Given the description of an element on the screen output the (x, y) to click on. 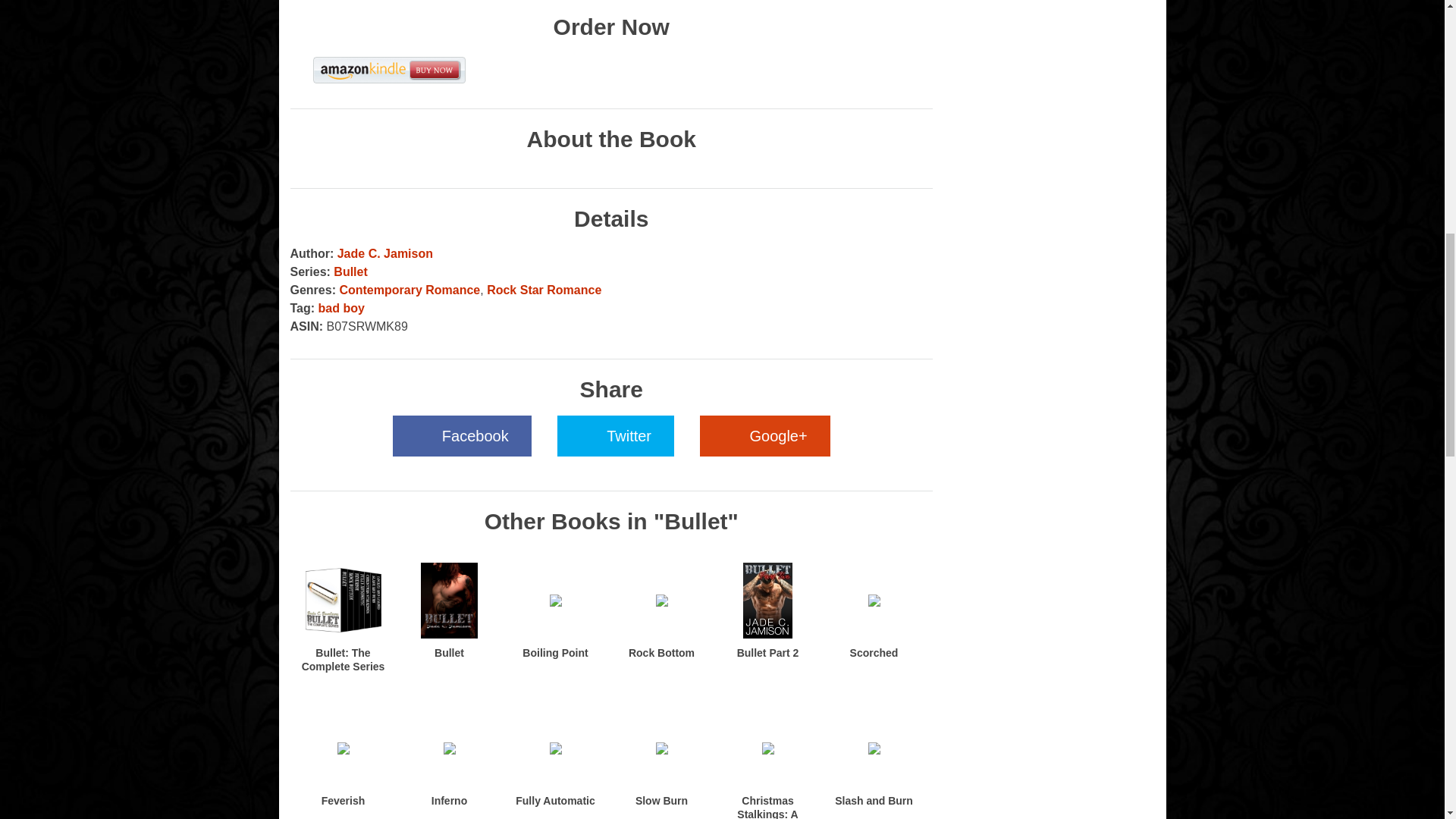
Contemporary Romance (409, 289)
Rock Star Romance (543, 289)
Twitter (615, 435)
Jade C. Jamison (384, 253)
Bullet (349, 271)
bad boy (341, 308)
Bullet: The Complete Series (343, 659)
Facebook (462, 435)
Bullet (448, 653)
